Given the description of an element on the screen output the (x, y) to click on. 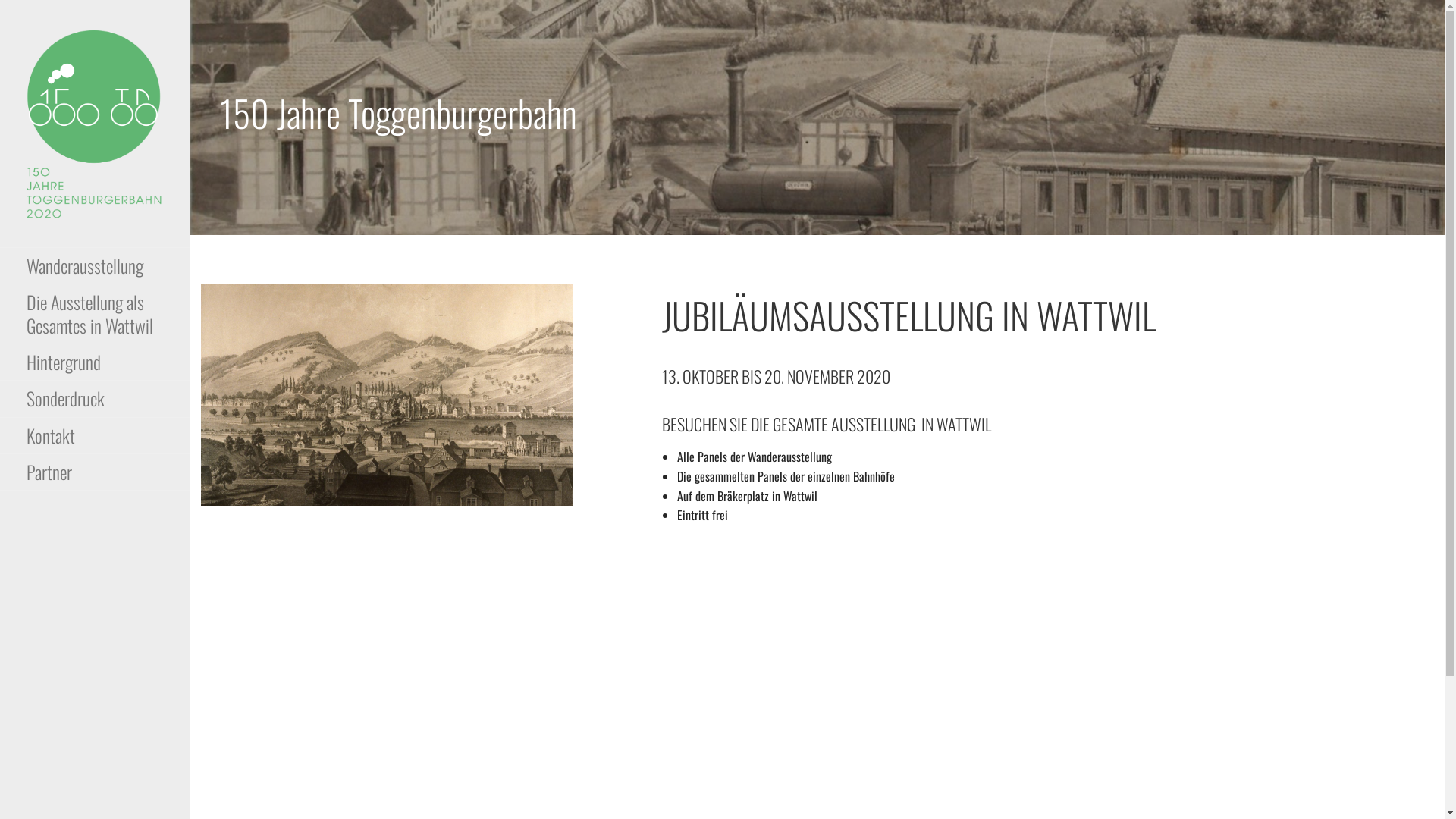
Wanderausstellung Element type: text (242, 564)
Zum Inhalt springen Element type: text (189, 0)
Kontakt Element type: text (94, 435)
Hintergrund Element type: text (94, 362)
Wanderausstellung Element type: text (242, 539)
Partner Element type: text (94, 472)
150 JAHRE TOGGENBURGER BAHN Element type: text (107, 271)
Sonderdruck Element type: text (94, 398)
Die Ausstellung als Gesamtes in Wattwil Element type: text (290, 633)
Partner Element type: text (217, 760)
Die Ausstellung als Gesamtes in Wattwil Element type: text (94, 314)
Sonderdruck Element type: text (228, 696)
Wanderausstellung Element type: text (94, 265)
Kontakt Element type: text (217, 728)
Hintergrund Element type: text (227, 665)
